Given the description of an element on the screen output the (x, y) to click on. 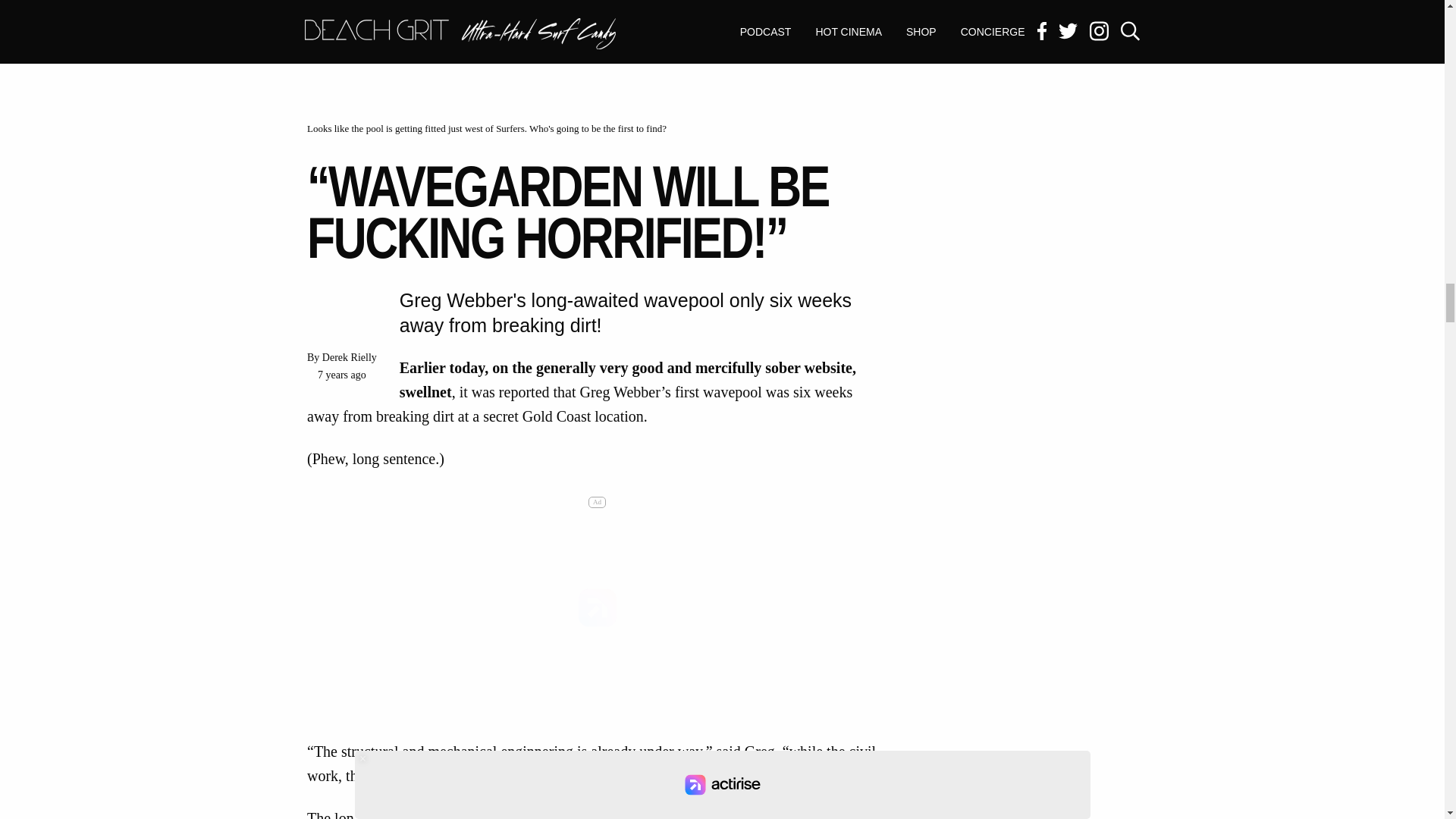
Derek Rielly (349, 357)
